Given the description of an element on the screen output the (x, y) to click on. 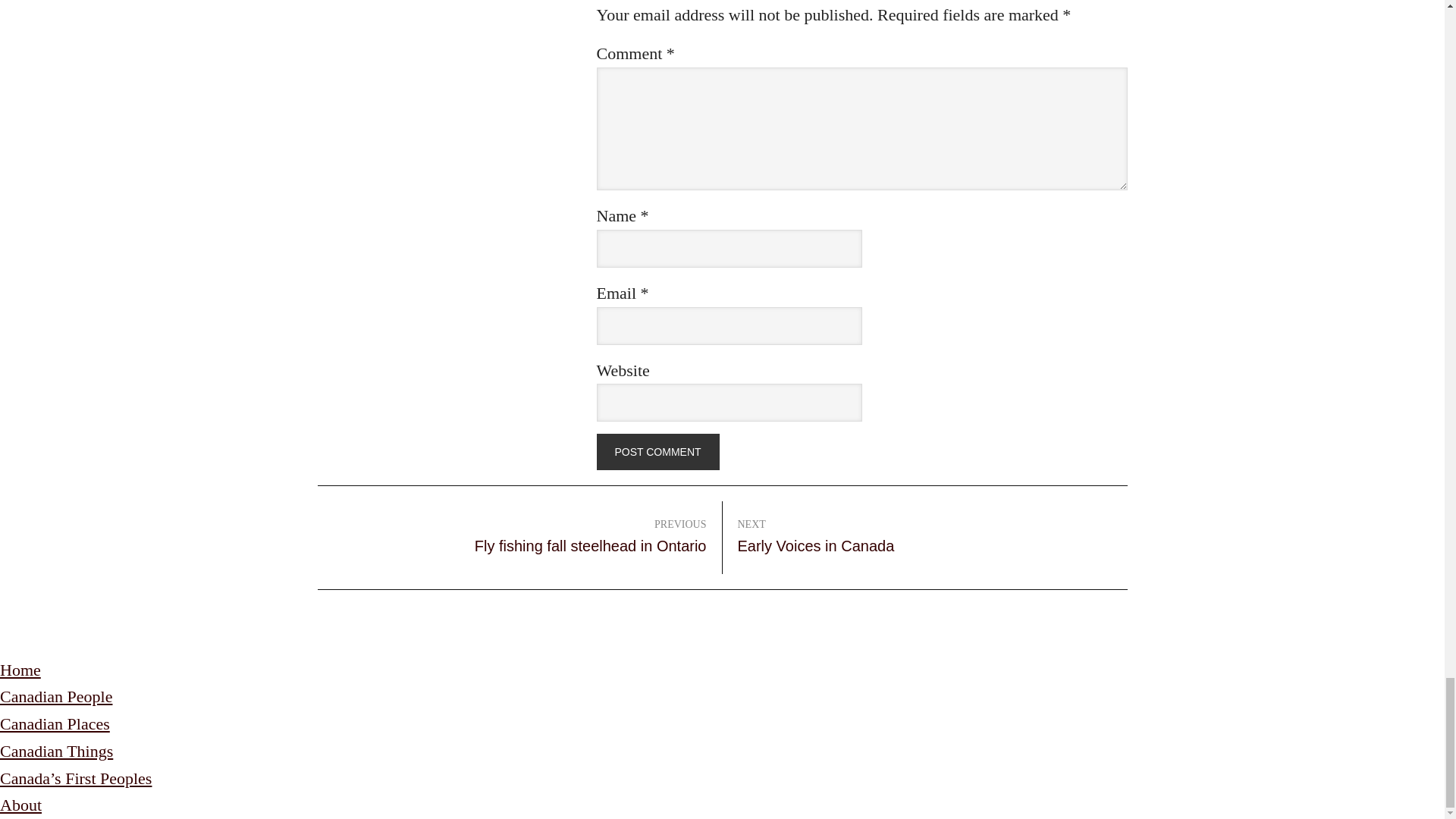
Post Comment (657, 452)
